Given the description of an element on the screen output the (x, y) to click on. 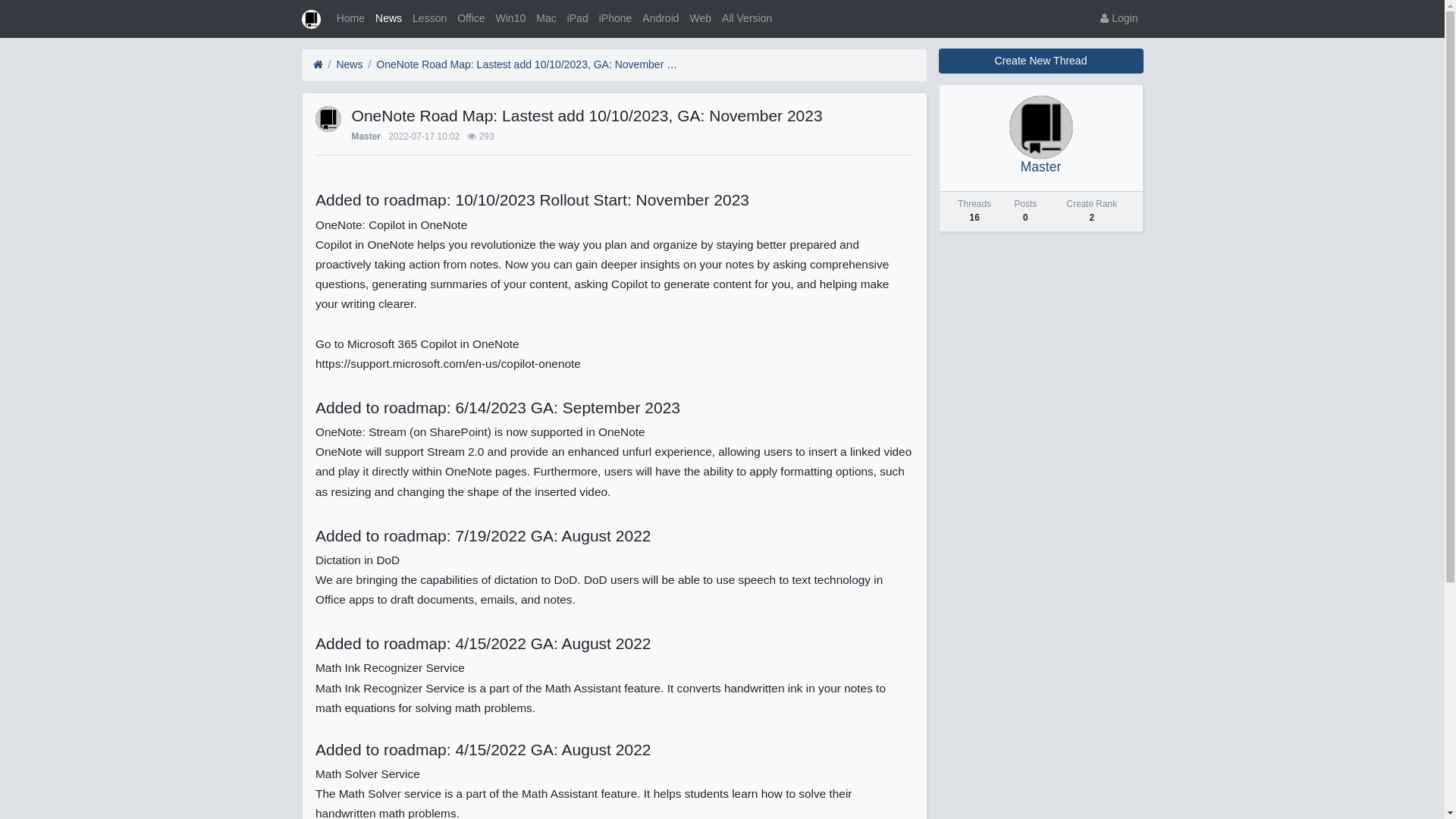
All Version Element type: text (746, 18)
Master Element type: text (1040, 166)
News Element type: text (388, 18)
Lesson Element type: text (429, 18)
Mac Element type: text (545, 18)
Login Element type: text (1118, 18)
iPhone Element type: text (615, 18)
Android Element type: text (660, 18)
Win10 Element type: text (510, 18)
OneNote Road Map: Lastest add 10/10/2023, GA: November 2023 Element type: text (527, 64)
Web Element type: text (700, 18)
Master Element type: text (365, 136)
Create New Thread Element type: text (1040, 61)
News Element type: text (348, 64)
Office Element type: text (470, 18)
Home Element type: text (350, 18)
iPad Element type: text (577, 18)
